Given the description of an element on the screen output the (x, y) to click on. 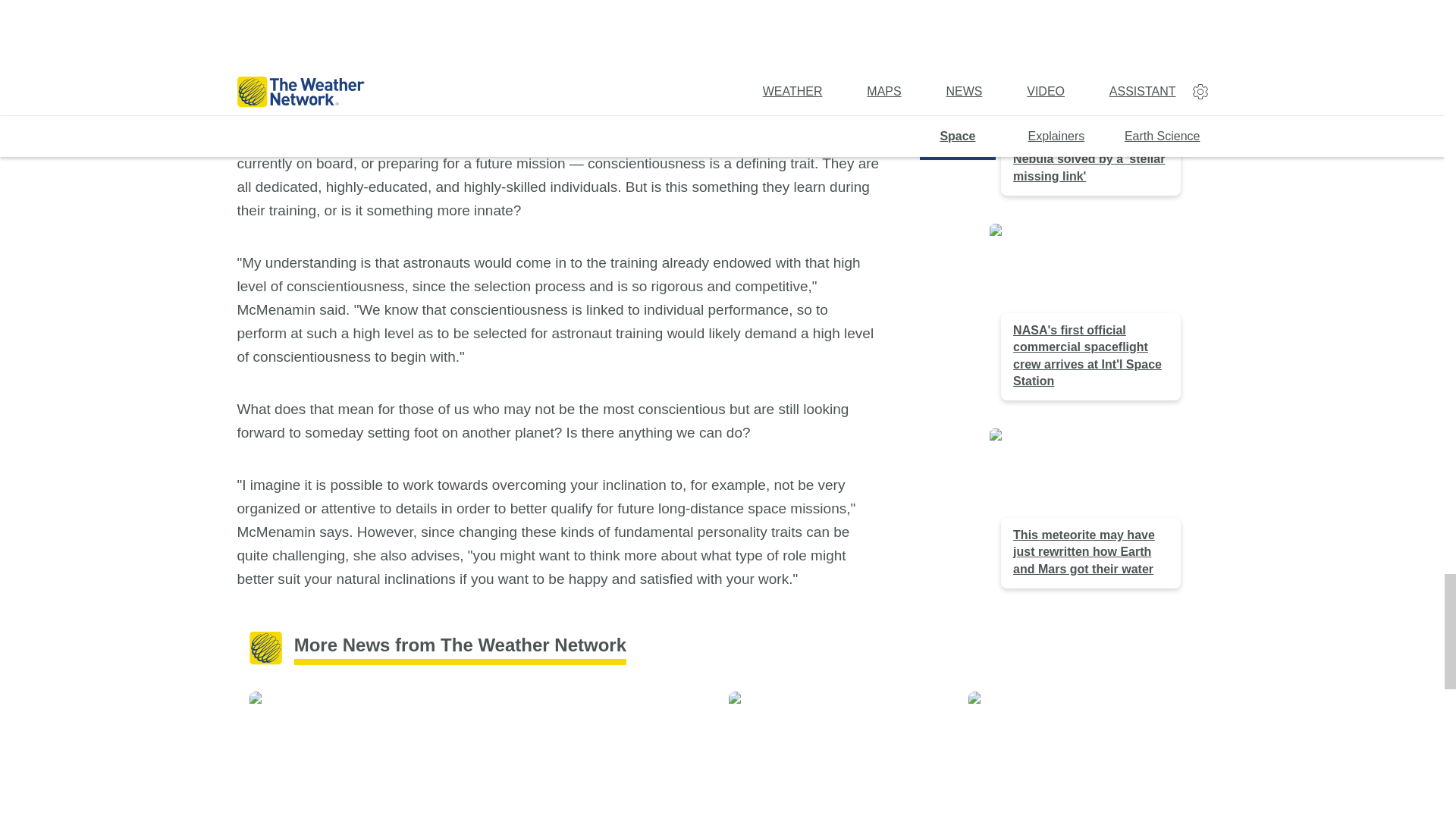
Wildfire in British Columbia spreads rapidly (362, 755)
